Given the description of an element on the screen output the (x, y) to click on. 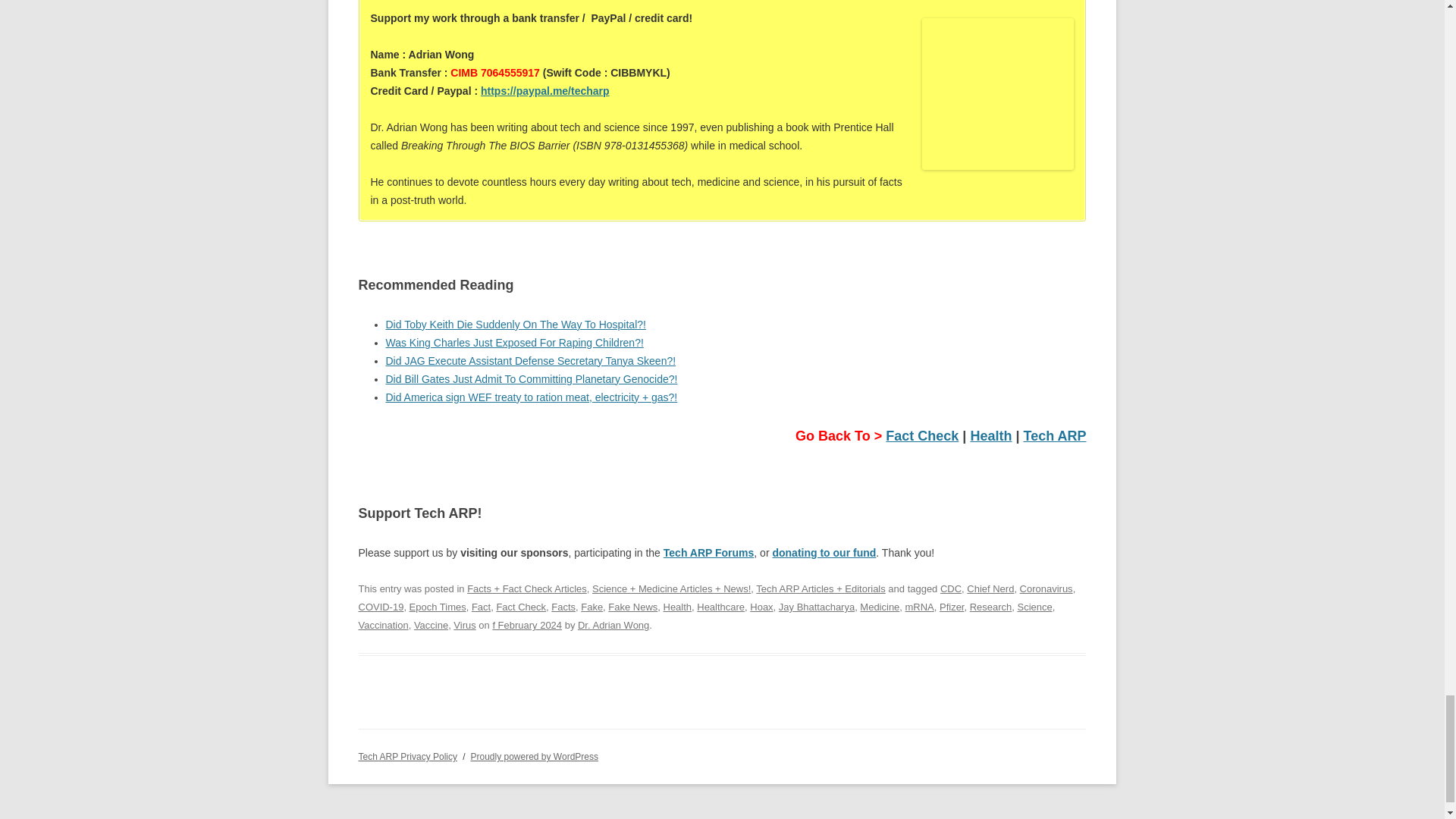
Health (990, 435)
1:38 pm (527, 624)
Semantic Personal Publishing Platform (534, 756)
Tech ARP (1054, 435)
View all posts by Dr. Adrian Wong (613, 624)
Was King Charles Just Exposed For Raping Children?! (514, 342)
Fact Check (921, 435)
Did Bill Gates Just Admit To Committing Planetary Genocide?! (531, 378)
Did Toby Keith Die Suddenly On The Way To Hospital?! (515, 324)
Did JAG Execute Assistant Defense Secretary Tanya Skeen?! (530, 360)
